Given the description of an element on the screen output the (x, y) to click on. 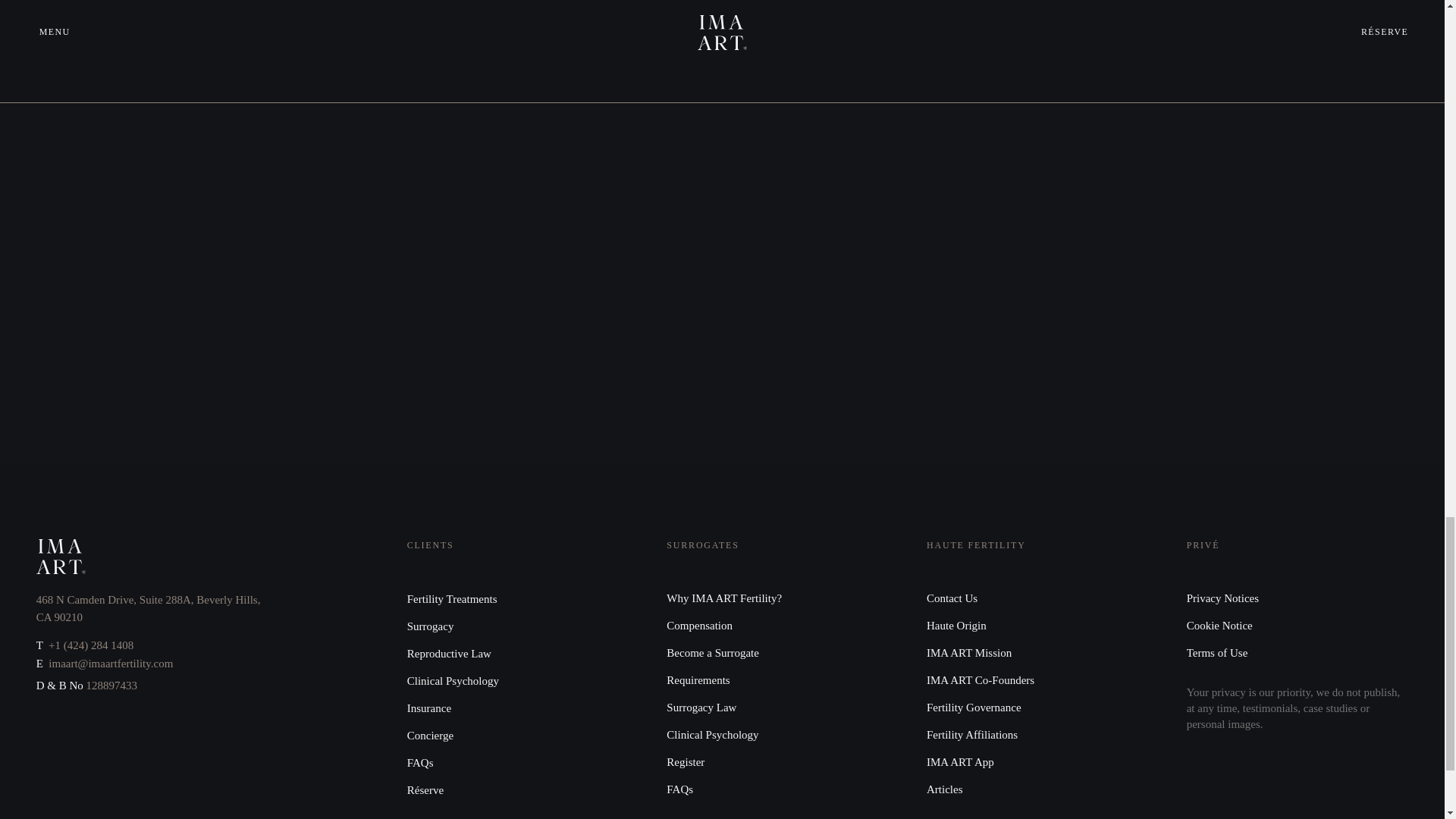
468 N Camden Drive, Suite 288A, Beverly Hills, CA 90210 (148, 608)
CLIENTS (430, 544)
Insurance (429, 707)
Reproductive Law (449, 653)
Surrogacy (430, 625)
Clinical Psychology (453, 680)
128897433 (110, 685)
Concierge (429, 735)
Fertility Treatments (452, 598)
